Given the description of an element on the screen output the (x, y) to click on. 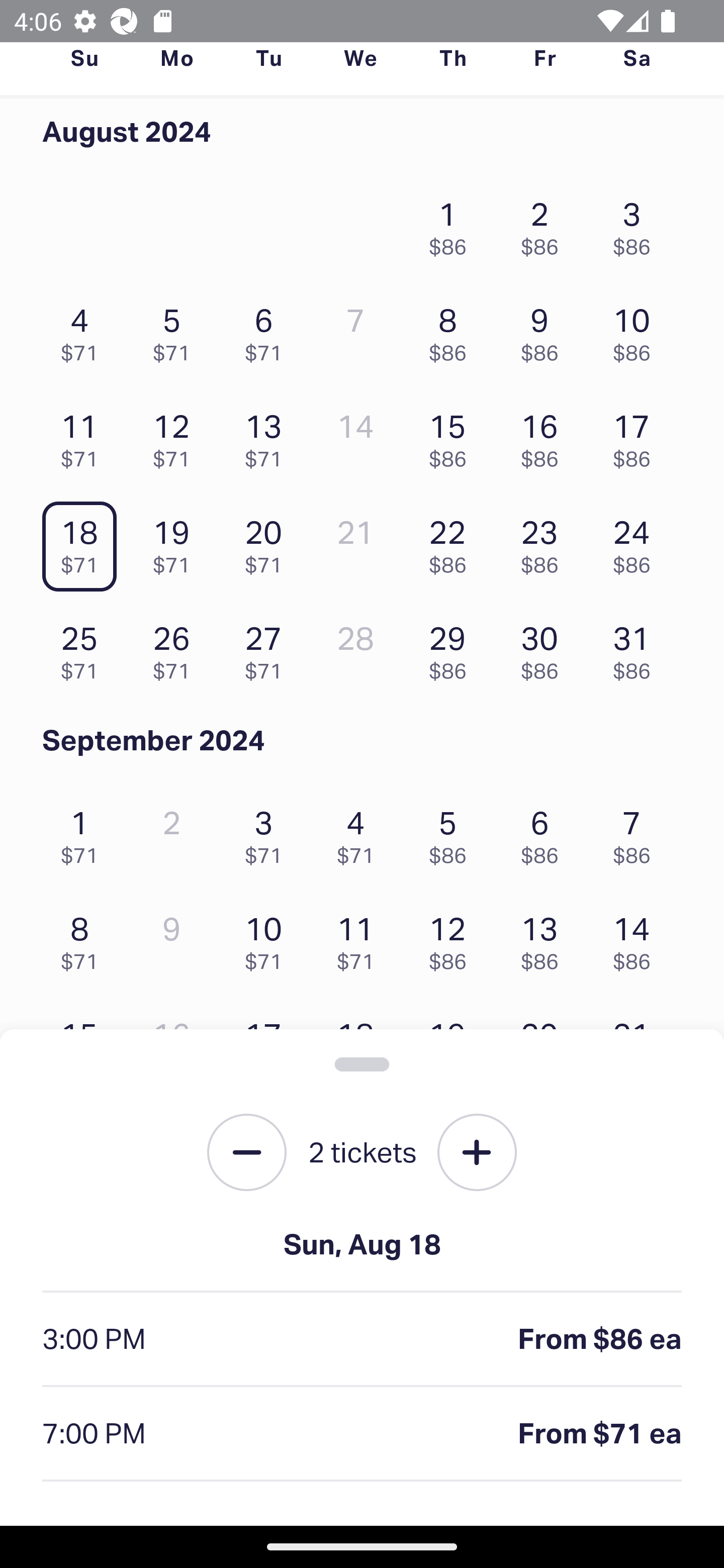
1 $86 (452, 223)
2 $86 (544, 223)
3 $86 (636, 223)
4 $71 (84, 329)
5 $71 (176, 329)
6 $71 (268, 329)
8 $86 (452, 329)
9 $86 (544, 329)
10 $86 (636, 329)
11 $71 (84, 435)
12 $71 (176, 435)
13 $71 (268, 435)
15 $86 (452, 435)
16 $86 (544, 435)
17 $86 (636, 435)
18 $71 (84, 541)
19 $71 (176, 541)
20 $71 (268, 541)
22 $86 (452, 541)
23 $86 (544, 541)
24 $86 (636, 541)
25 $71 (84, 647)
26 $71 (176, 647)
27 $71 (268, 647)
29 $86 (452, 647)
30 $86 (544, 647)
31 $86 (636, 647)
1 $71 (84, 831)
3 $71 (268, 831)
4 $71 (360, 831)
5 $86 (452, 831)
6 $86 (544, 831)
7 $86 (636, 831)
8 $71 (84, 938)
10 $71 (268, 938)
11 $71 (360, 938)
12 $86 (452, 938)
13 $86 (544, 938)
14 $86 (636, 938)
3:00 PM From $86 ea (361, 1339)
7:00 PM From $71 ea (361, 1434)
